Given the description of an element on the screen output the (x, y) to click on. 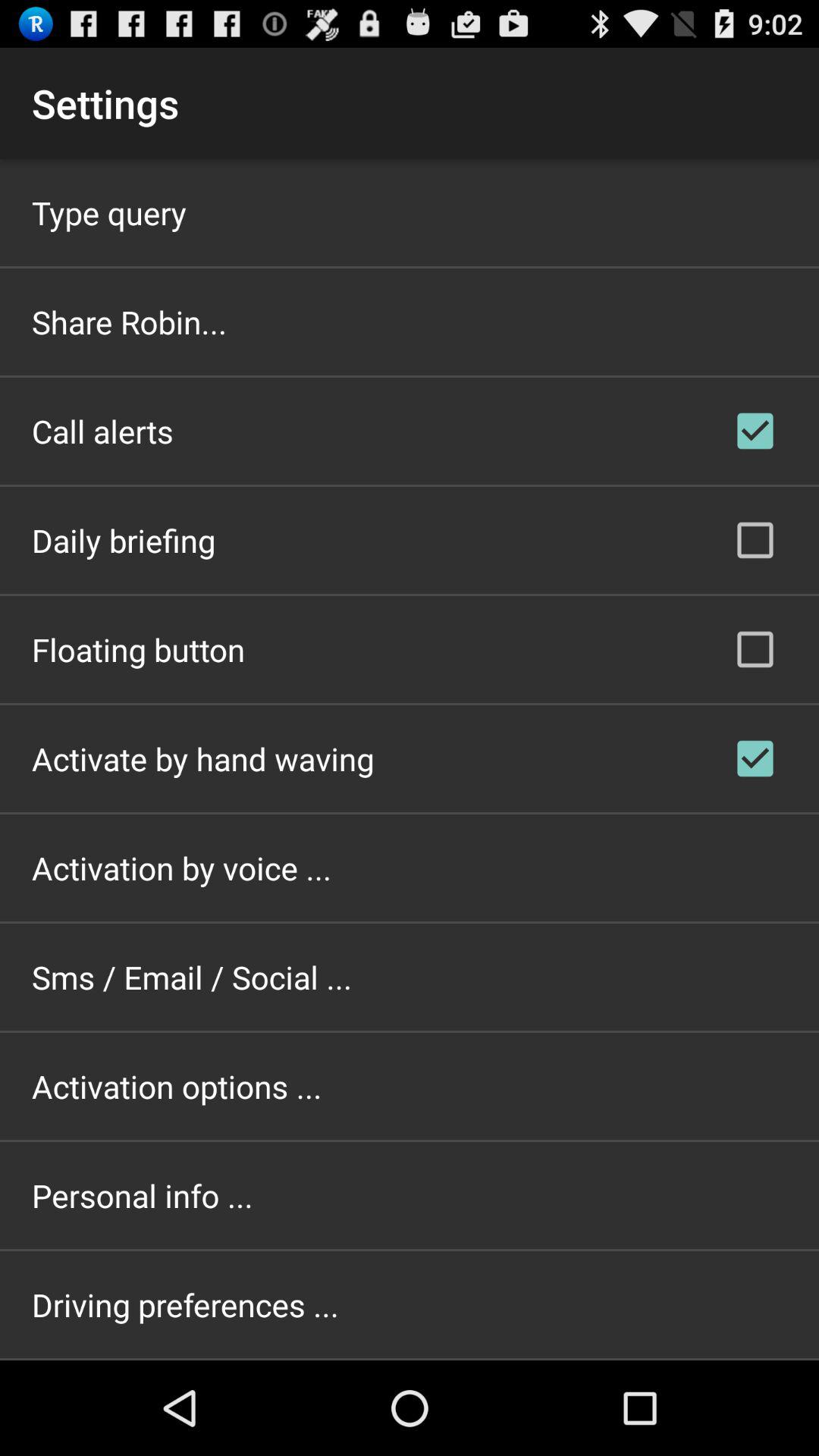
jump to the daily briefing icon (123, 539)
